Given the description of an element on the screen output the (x, y) to click on. 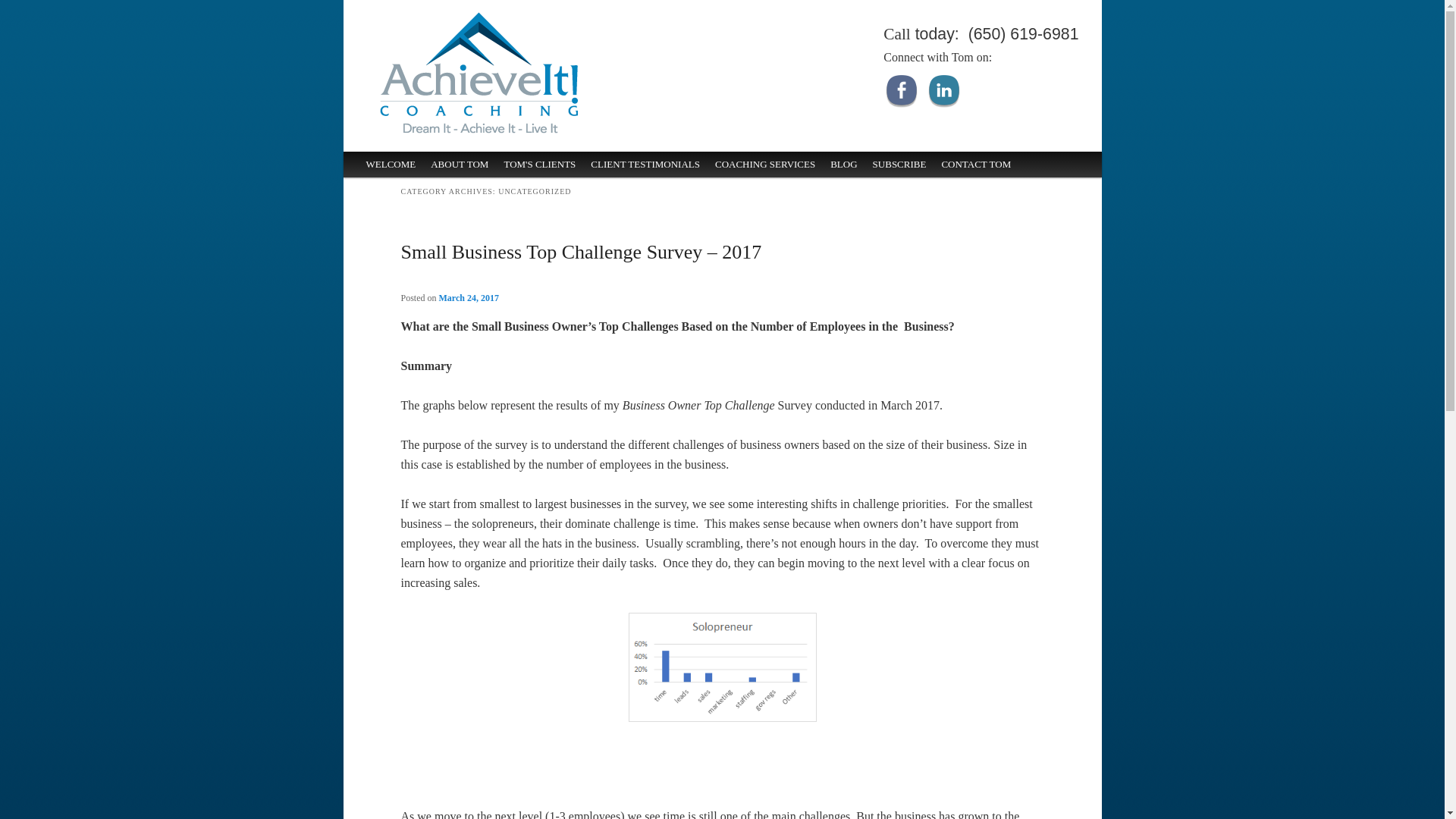
WELCOME (390, 164)
SUBSCRIBE (899, 164)
Skip to secondary content (419, 171)
March 24, 2017 (469, 297)
BLOG (843, 164)
CLIENT TESTIMONIALS (645, 164)
TOM'S CLIENTS (539, 164)
8:42 am (469, 297)
Achieve It! Coaching (444, 16)
ABOUT TOM (459, 164)
CONTACT TOM (975, 164)
Achieve It! Coaching (477, 141)
COACHING SERVICES (764, 164)
Skip to primary content (414, 171)
